Given the description of an element on the screen output the (x, y) to click on. 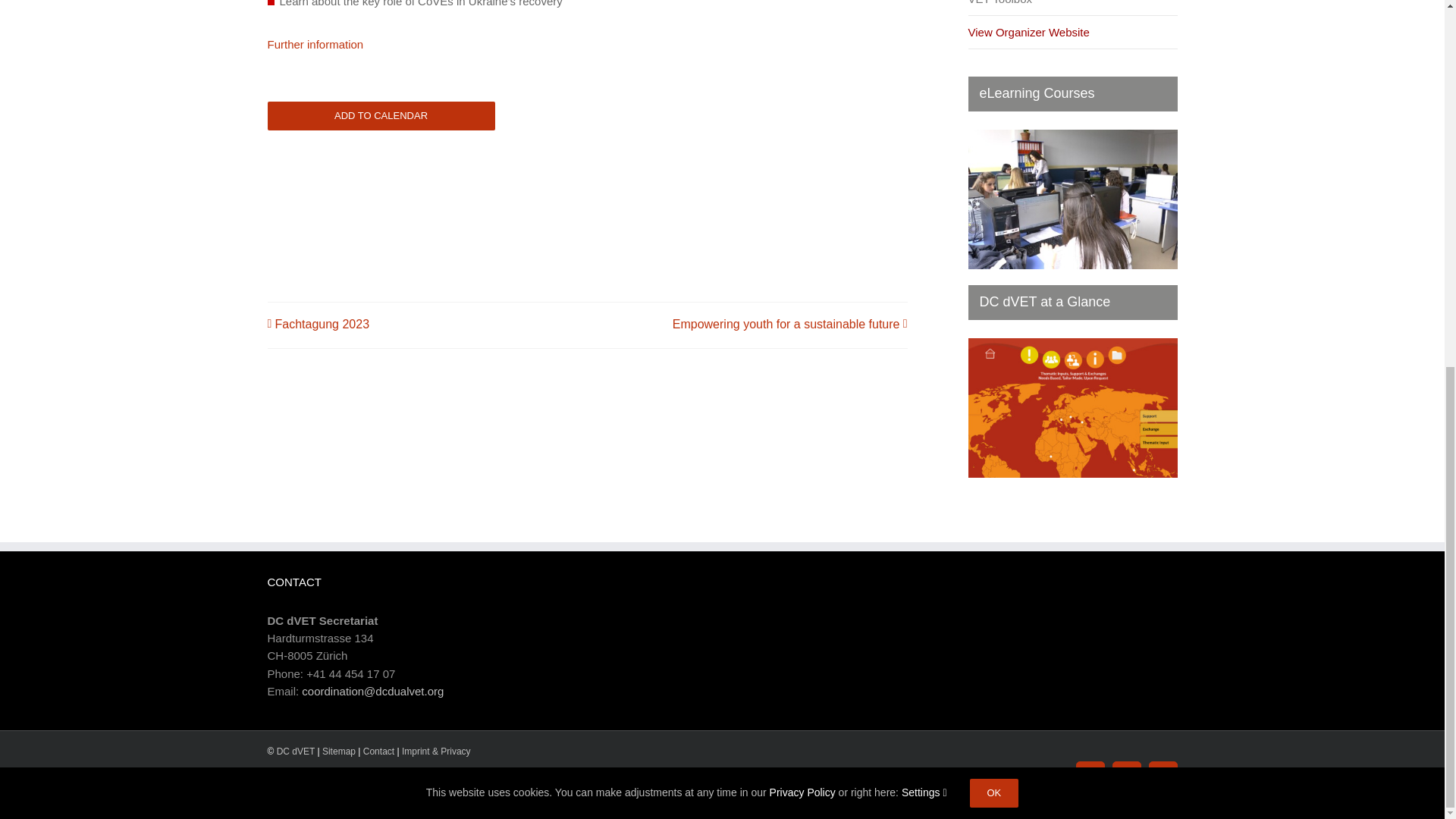
Share on Twitter (405, 782)
Share on Print (280, 782)
Share on Facebook (342, 782)
Share on Email (312, 782)
Share on Xing (436, 782)
Share on LinkedIn (374, 782)
